Given the description of an element on the screen output the (x, y) to click on. 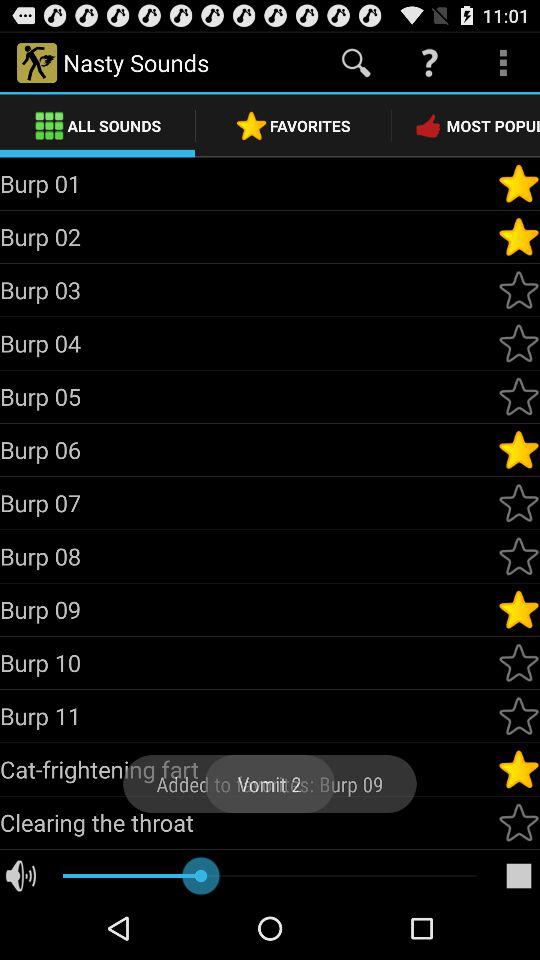
make burp 01 a favorite (519, 183)
